Given the description of an element on the screen output the (x, y) to click on. 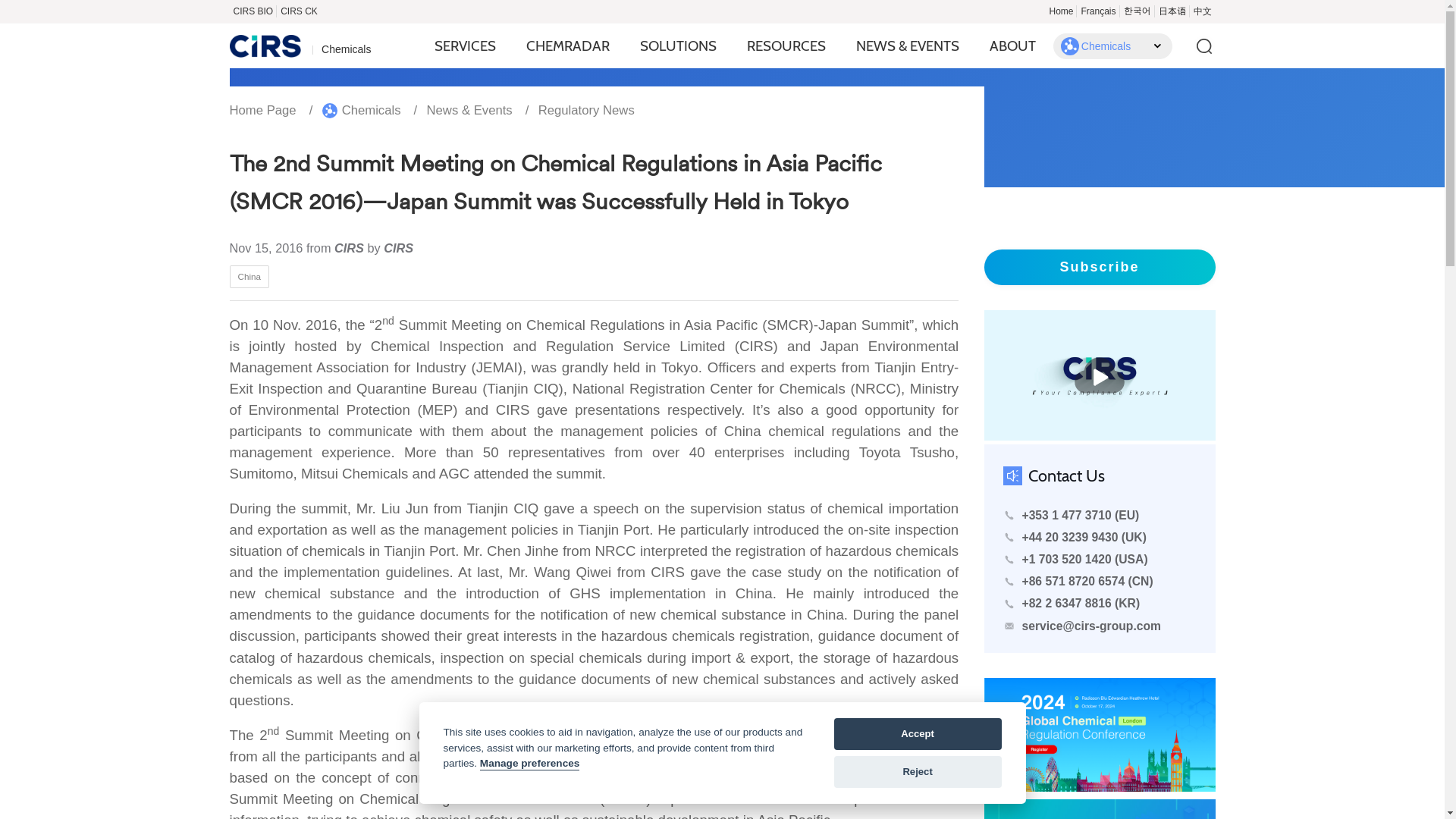
CIRS BIO (252, 11)
SOLUTIONS (678, 45)
CHEMRADAR (567, 45)
CIRS CK (298, 11)
SERVICES (464, 45)
Home (1061, 11)
ABOUT (1012, 45)
RESOURCES (785, 45)
